Given the description of an element on the screen output the (x, y) to click on. 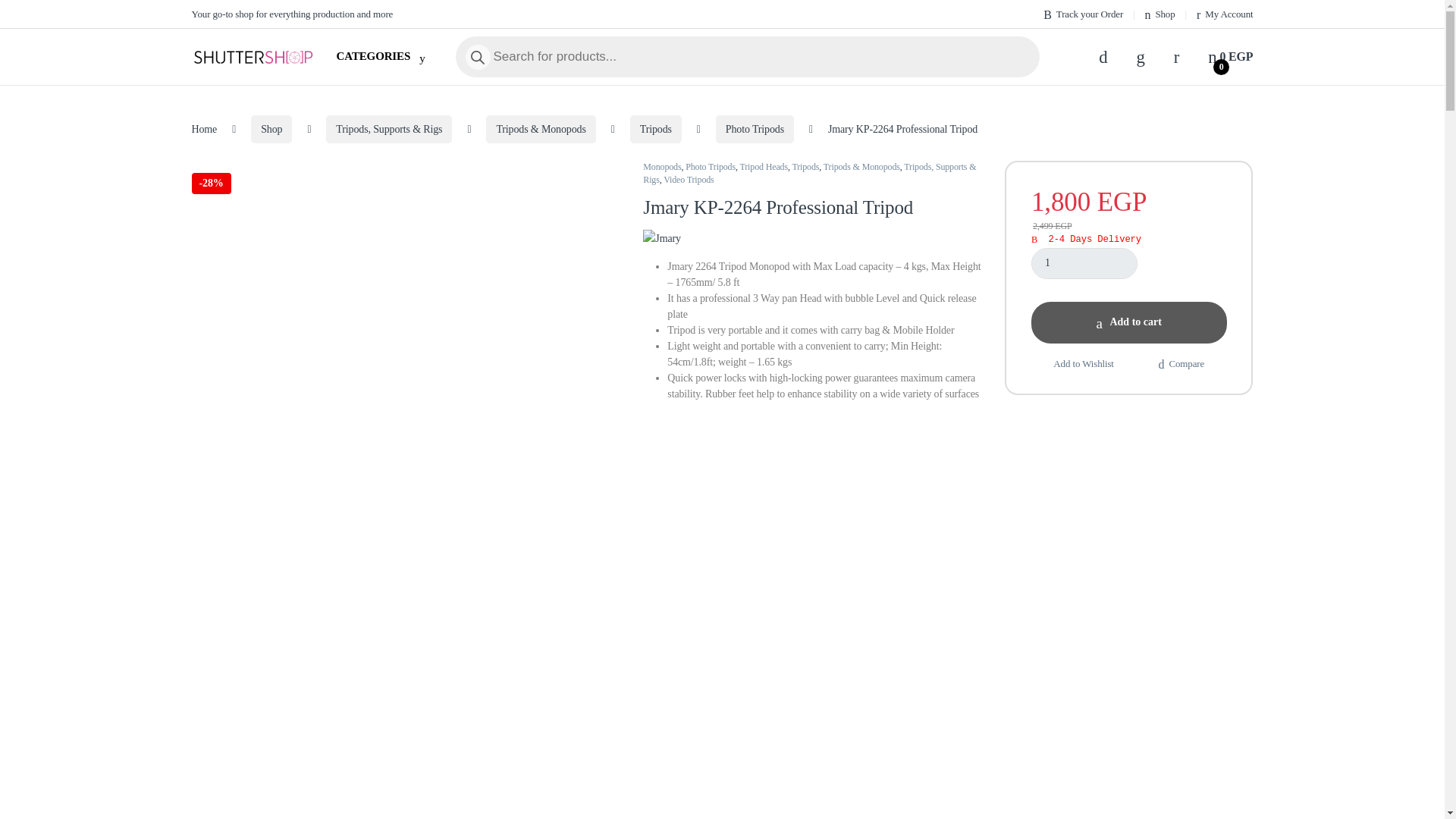
Track your Order (1082, 13)
CATEGORIES (371, 56)
Shop (1159, 13)
My Account (1224, 13)
My Account (1224, 13)
Track your Order (1082, 13)
Your go-to shop for everything production and more (291, 13)
Your go-to shop for everything production and more (291, 13)
1 (1083, 263)
Shop (1159, 13)
